Given the description of an element on the screen output the (x, y) to click on. 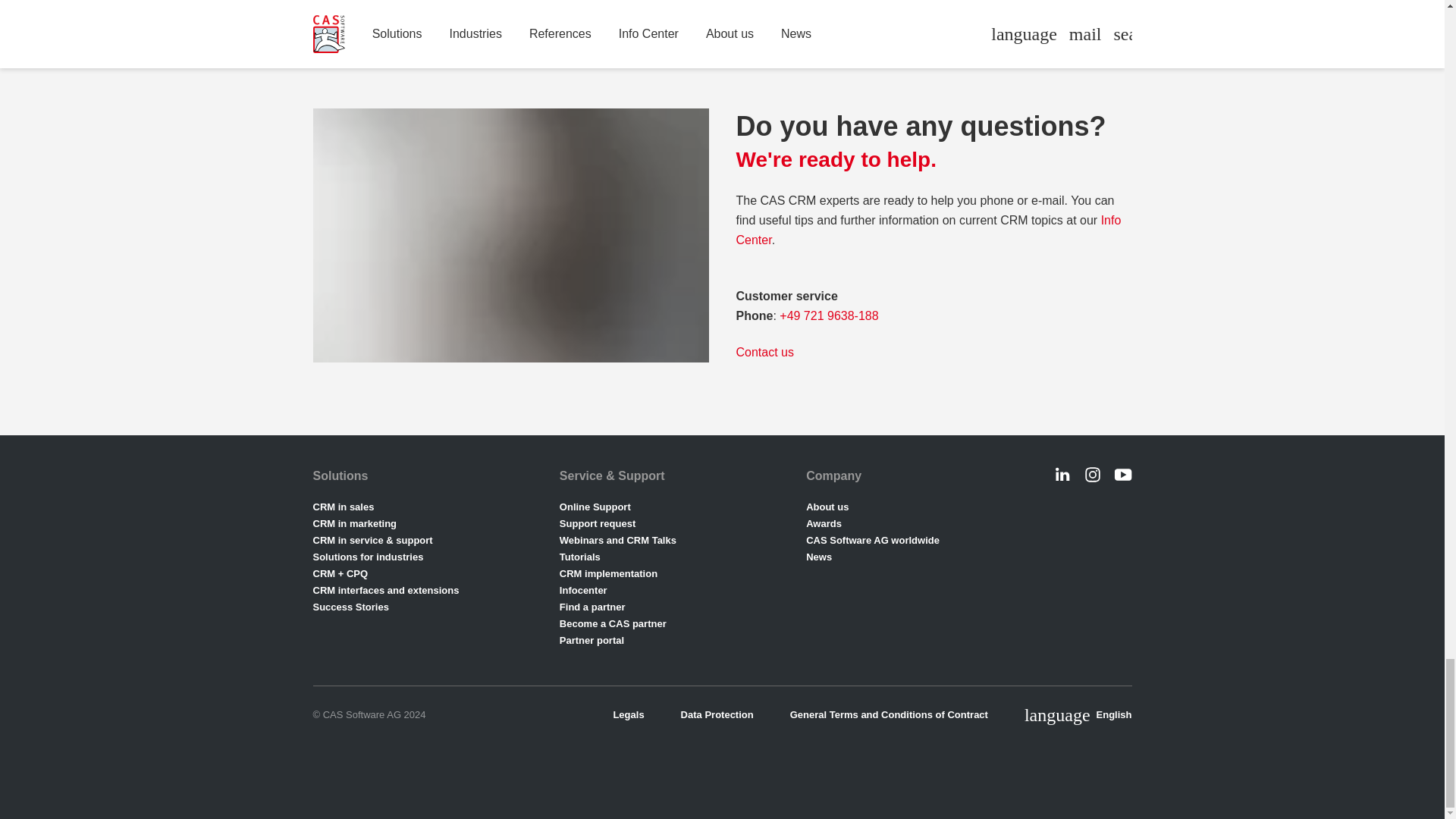
Instagram (1091, 475)
YouTube (1122, 475)
LinkedIn (1061, 475)
